Given the description of an element on the screen output the (x, y) to click on. 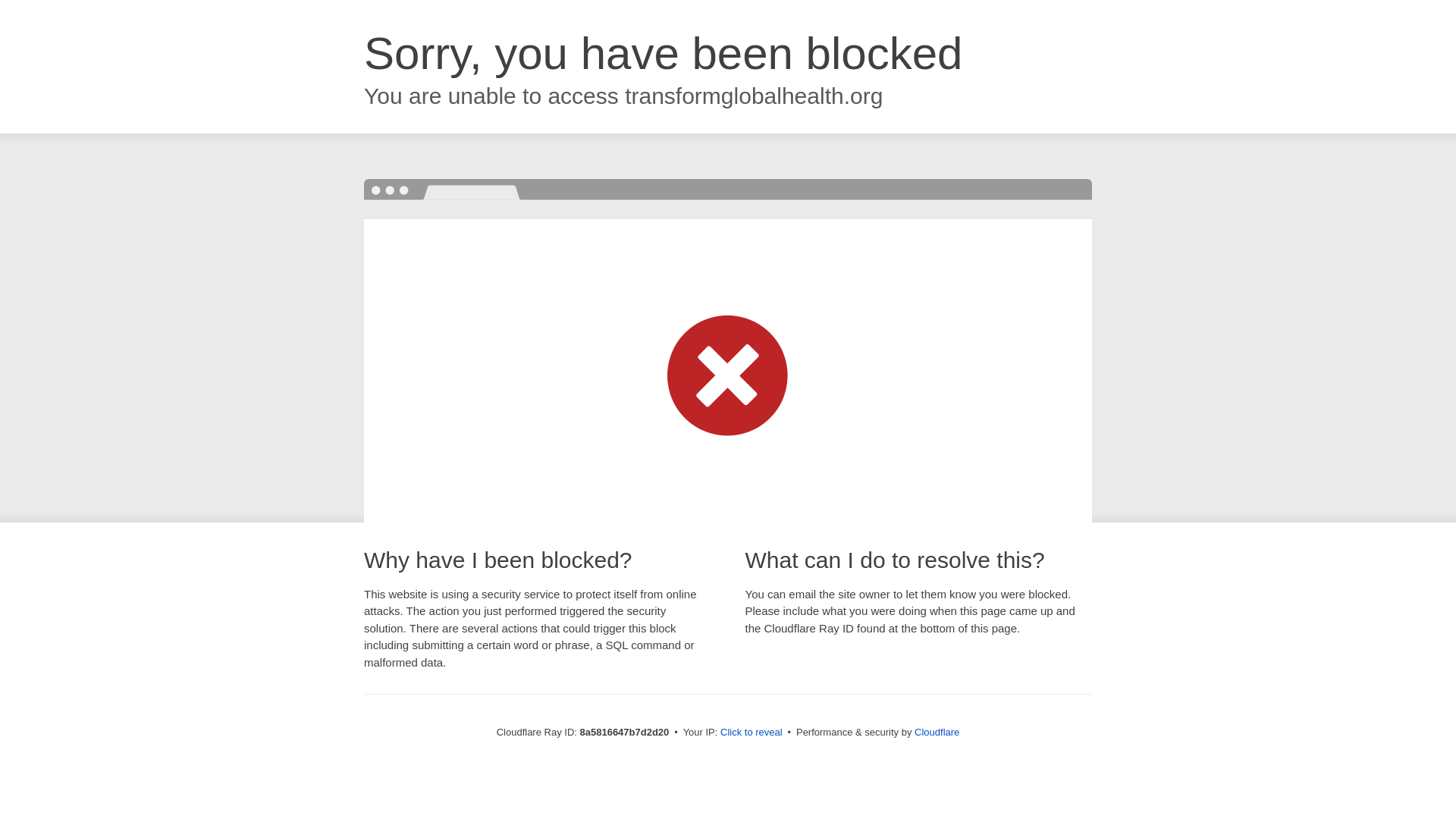
Click to reveal (751, 732)
Cloudflare (936, 731)
